Given the description of an element on the screen output the (x, y) to click on. 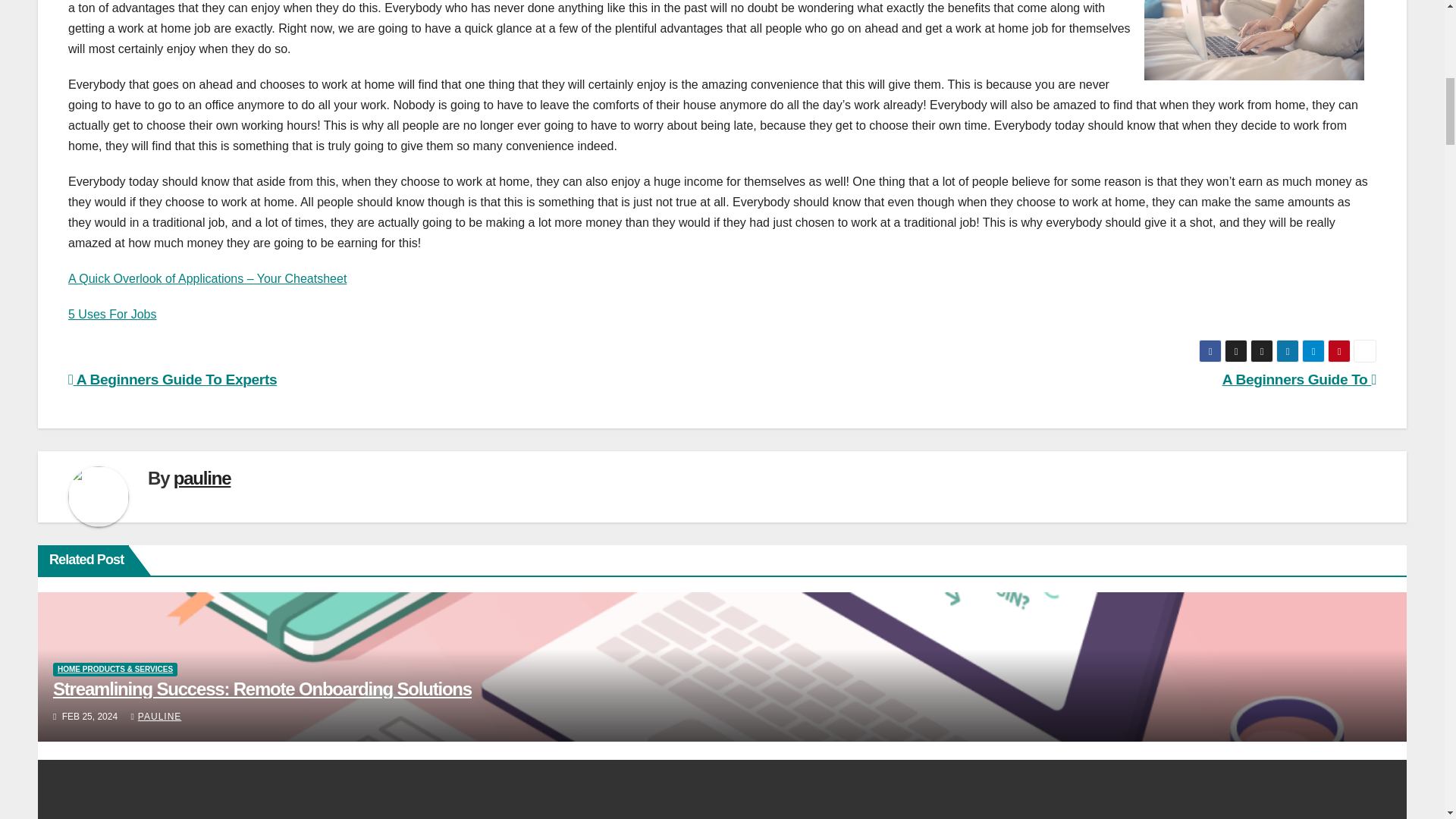
A Beginners Guide To Experts (172, 379)
pauline (202, 477)
Streamlining Success: Remote Onboarding Solutions (261, 688)
A Beginners Guide To (1299, 379)
PAULINE (155, 716)
5 Uses For Jobs (111, 314)
